Given the description of an element on the screen output the (x, y) to click on. 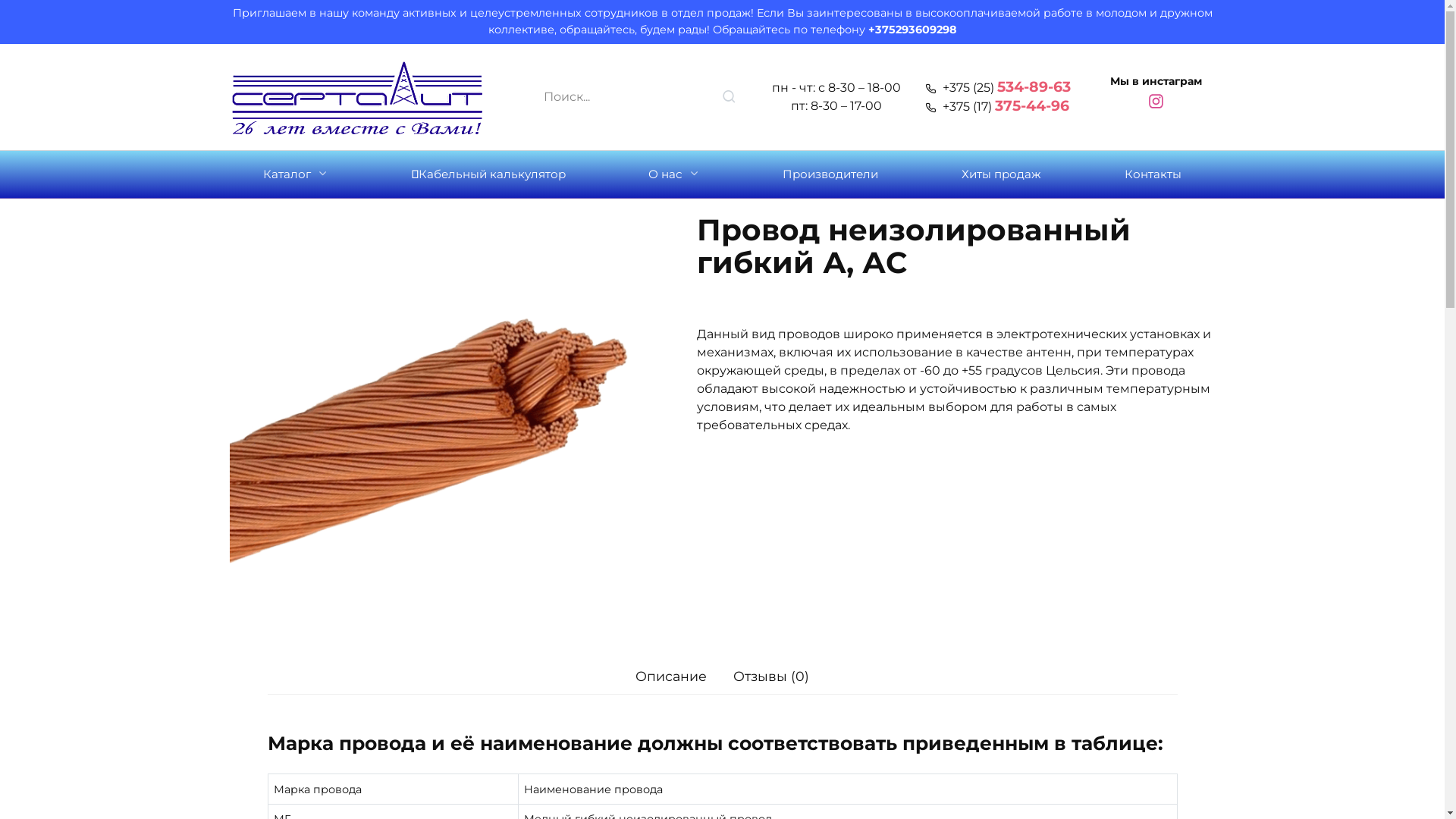
+375 (25) 534-89-63 Element type: text (997, 87)
+375 (17) 375-44-96 Element type: text (996, 106)
